Given the description of an element on the screen output the (x, y) to click on. 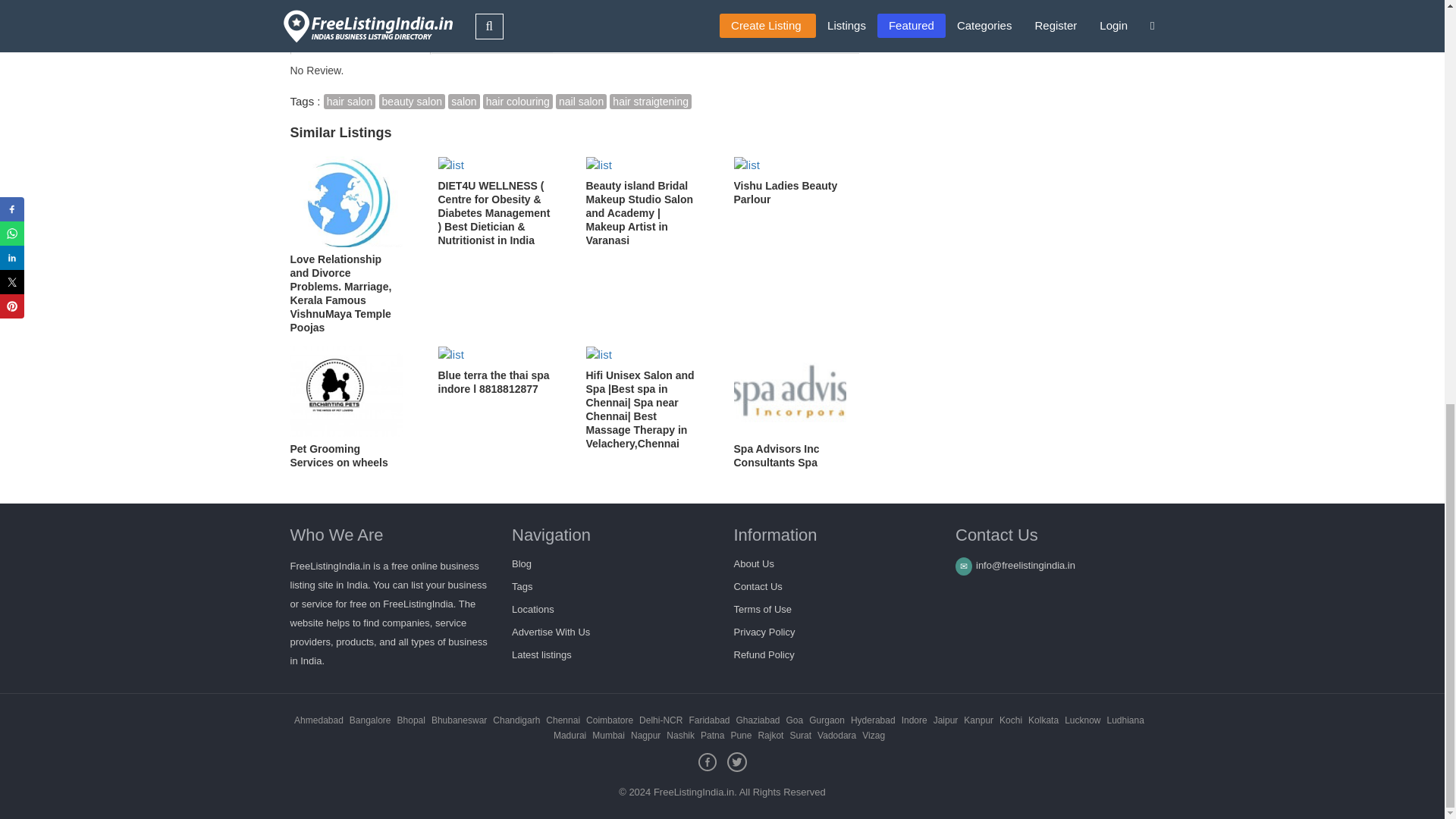
hair colouring (518, 101)
Advertise With Us (550, 632)
Tags (522, 586)
hair straigtening (650, 101)
salon (463, 101)
Privacy Policy (763, 632)
About Us (753, 563)
Write a Review (490, 32)
beauty salon (411, 101)
Refund Policy (763, 654)
